Given the description of an element on the screen output the (x, y) to click on. 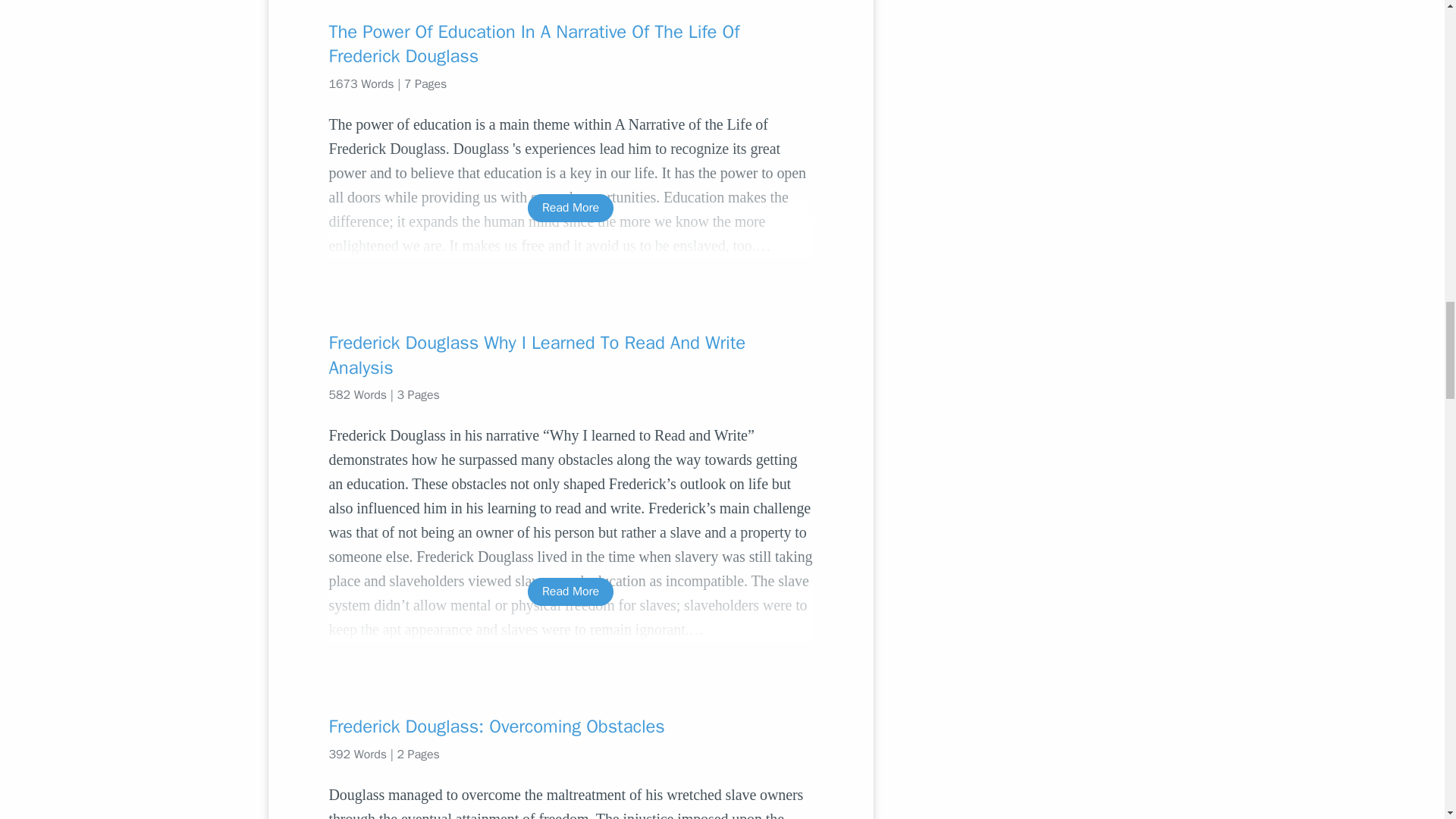
Read More (569, 207)
Read More (569, 592)
Frederick Douglass Why I Learned To Read And Write Analysis (570, 355)
Frederick Douglass: Overcoming Obstacles (570, 726)
